Given the description of an element on the screen output the (x, y) to click on. 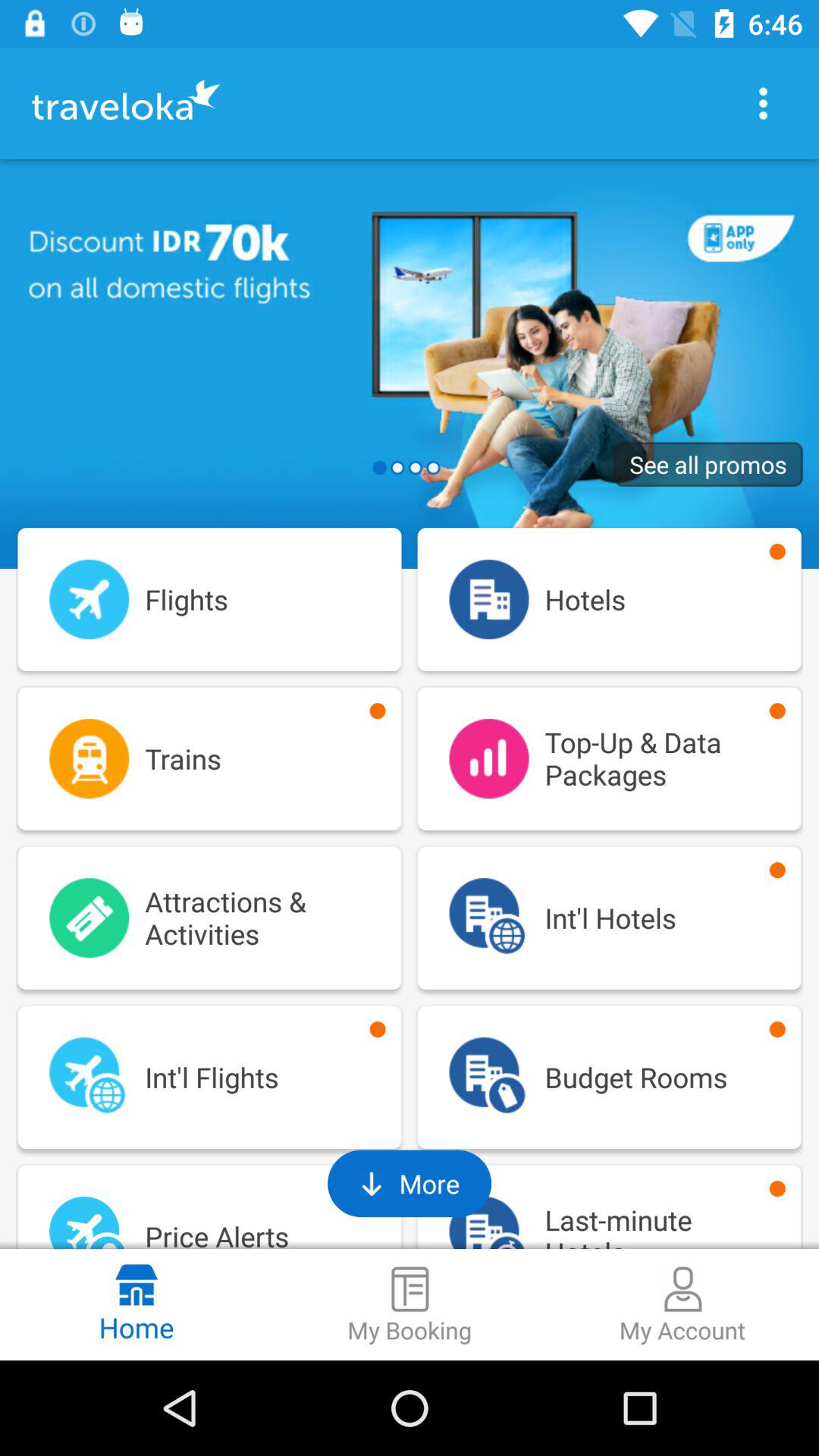
toggle menu options (763, 103)
